Given the description of an element on the screen output the (x, y) to click on. 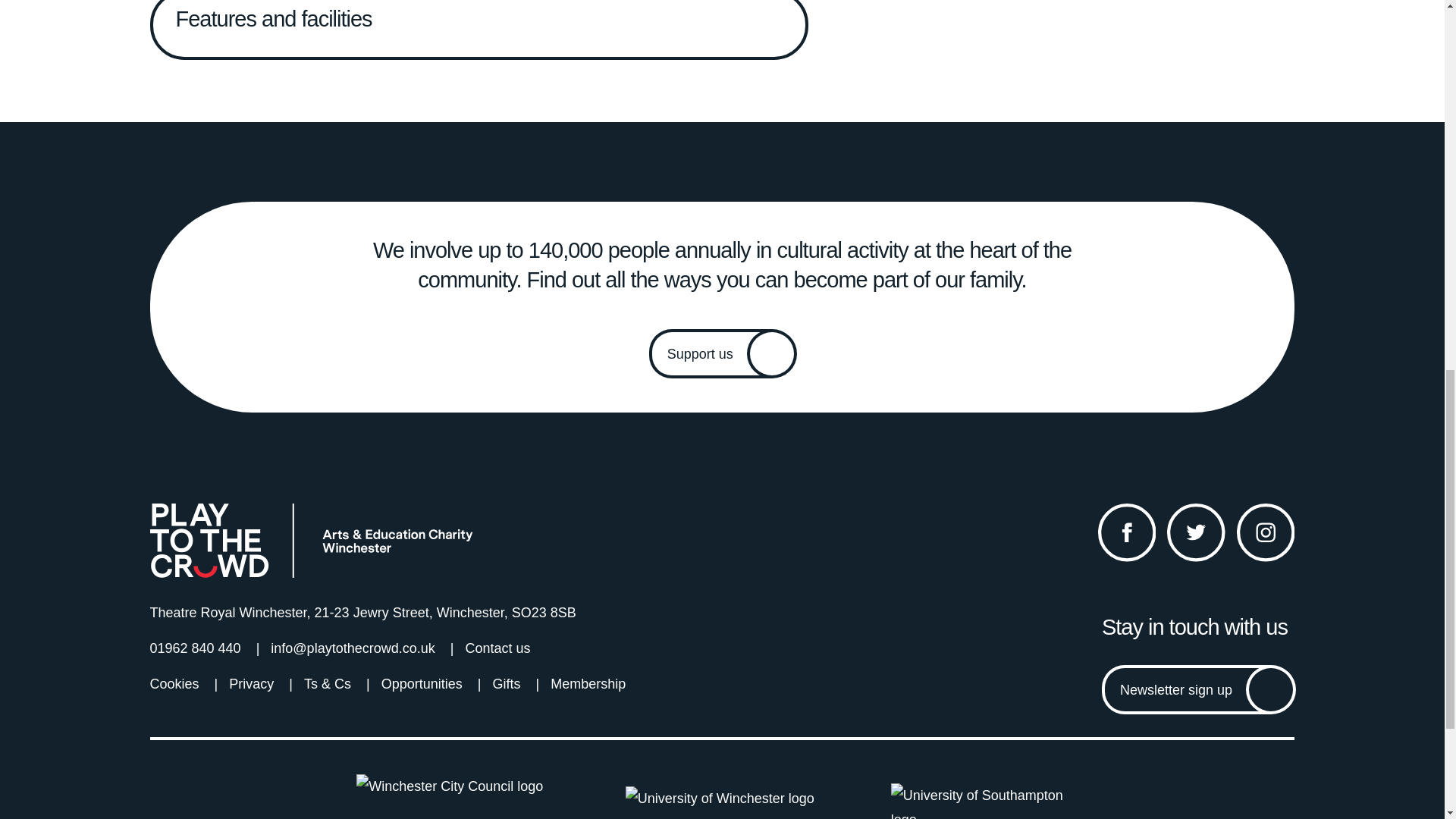
Find us on Facebook (1126, 532)
University of Winchester (724, 802)
Winchester City Council (456, 796)
Membership (588, 683)
Cookies (174, 683)
Gifts (505, 683)
Contact us (496, 648)
Find us on Instagram (1265, 532)
Privacy (250, 683)
Find us on Twitter (1196, 532)
